Given the description of an element on the screen output the (x, y) to click on. 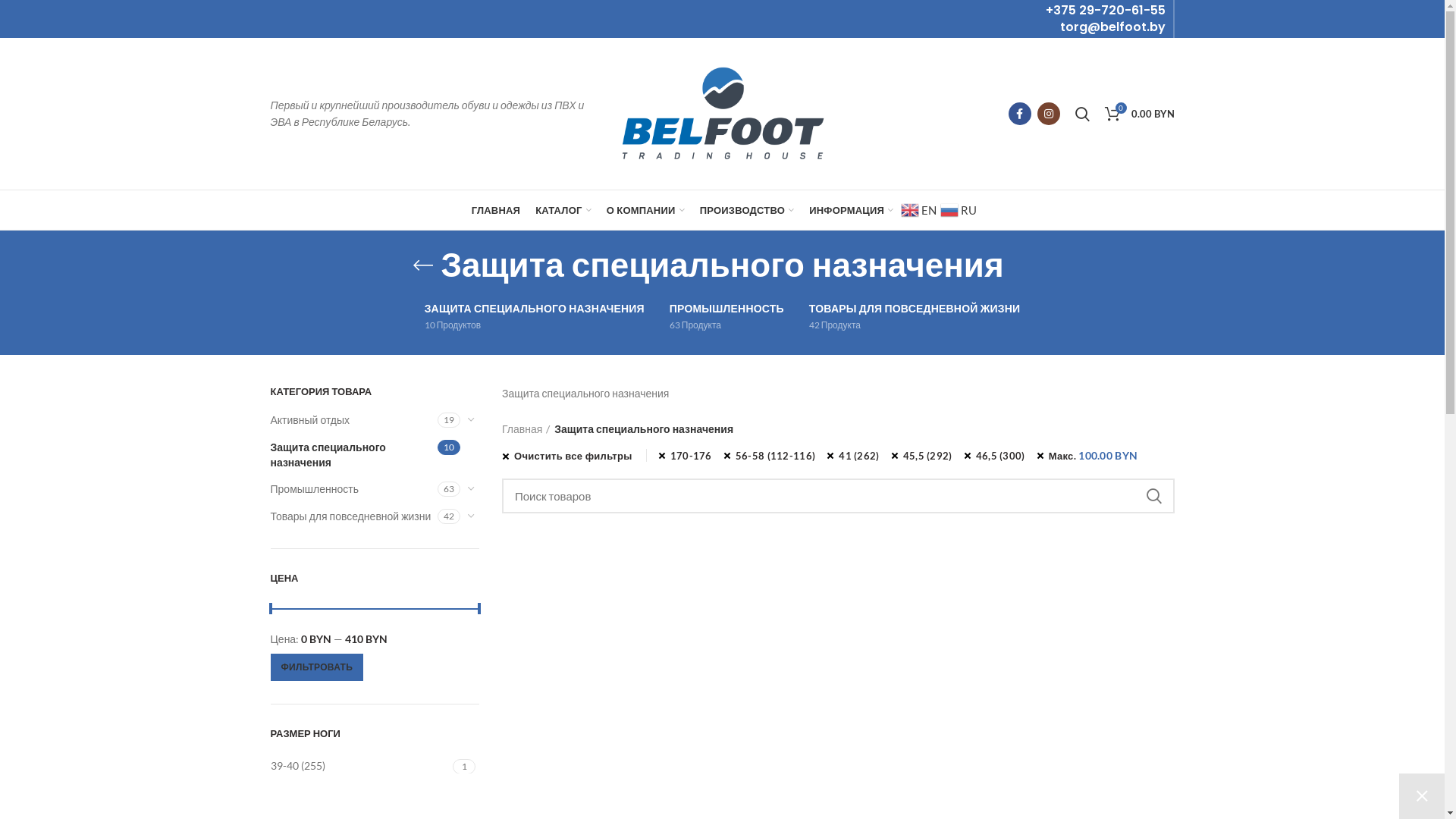
56-58 (112-116) Element type: text (769, 455)
0
0.00 BYN Element type: text (1138, 113)
46,5 (300) Element type: text (994, 455)
41 (262) Element type: text (852, 455)
170-176 Element type: text (685, 455)
39-40 (255) Element type: text (360, 766)
45,5 (292) Element type: text (921, 455)
EN Element type: text (920, 208)
41 (262) Element type: text (360, 790)
Instagram Element type: text (1048, 113)
RU Element type: text (960, 208)
Facebook Element type: text (1019, 113)
